Given the description of an element on the screen output the (x, y) to click on. 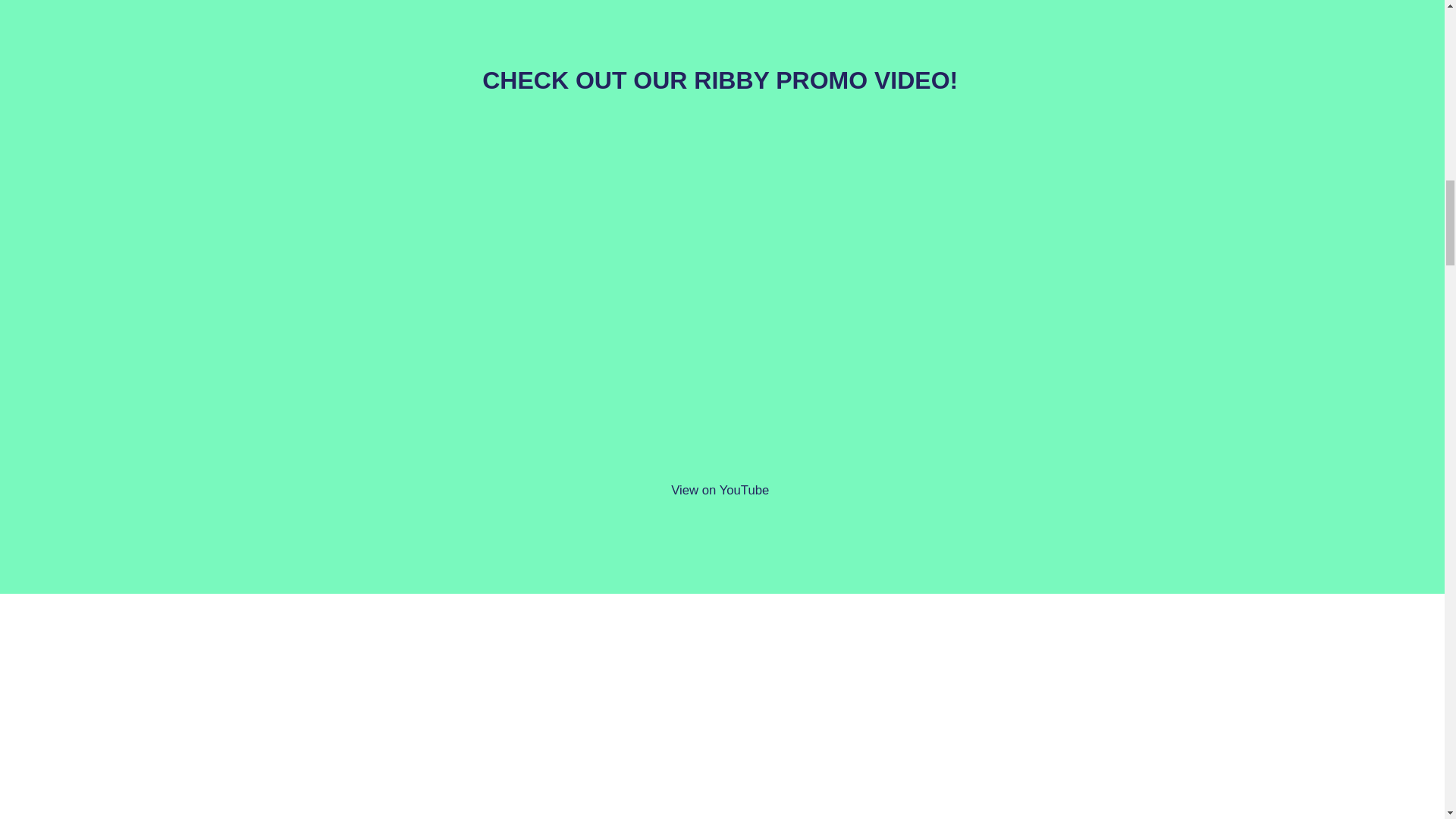
View on YouTube (719, 490)
